Given the description of an element on the screen output the (x, y) to click on. 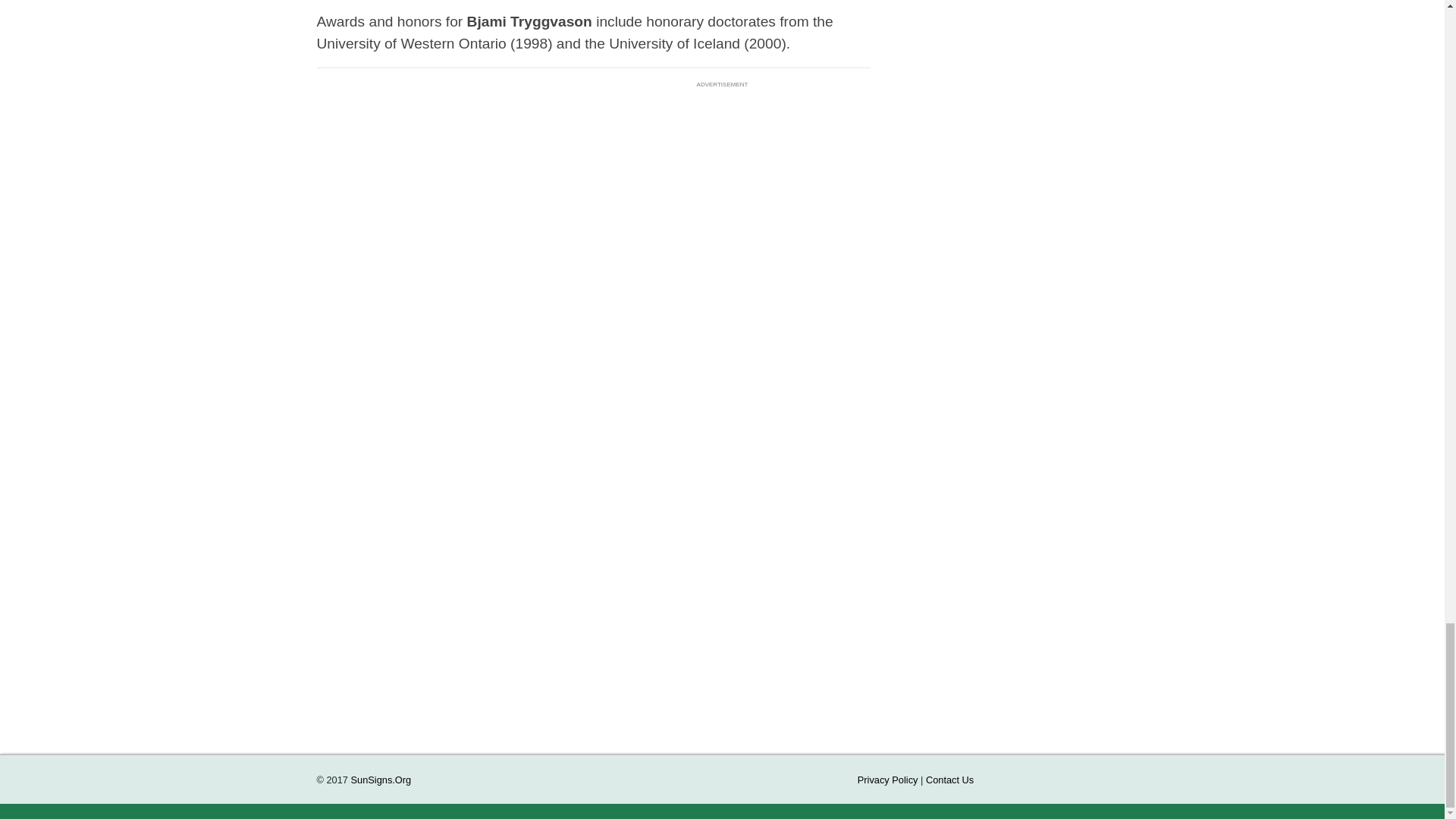
SunSigns.Org (381, 779)
Privacy Policy (887, 779)
